Given the description of an element on the screen output the (x, y) to click on. 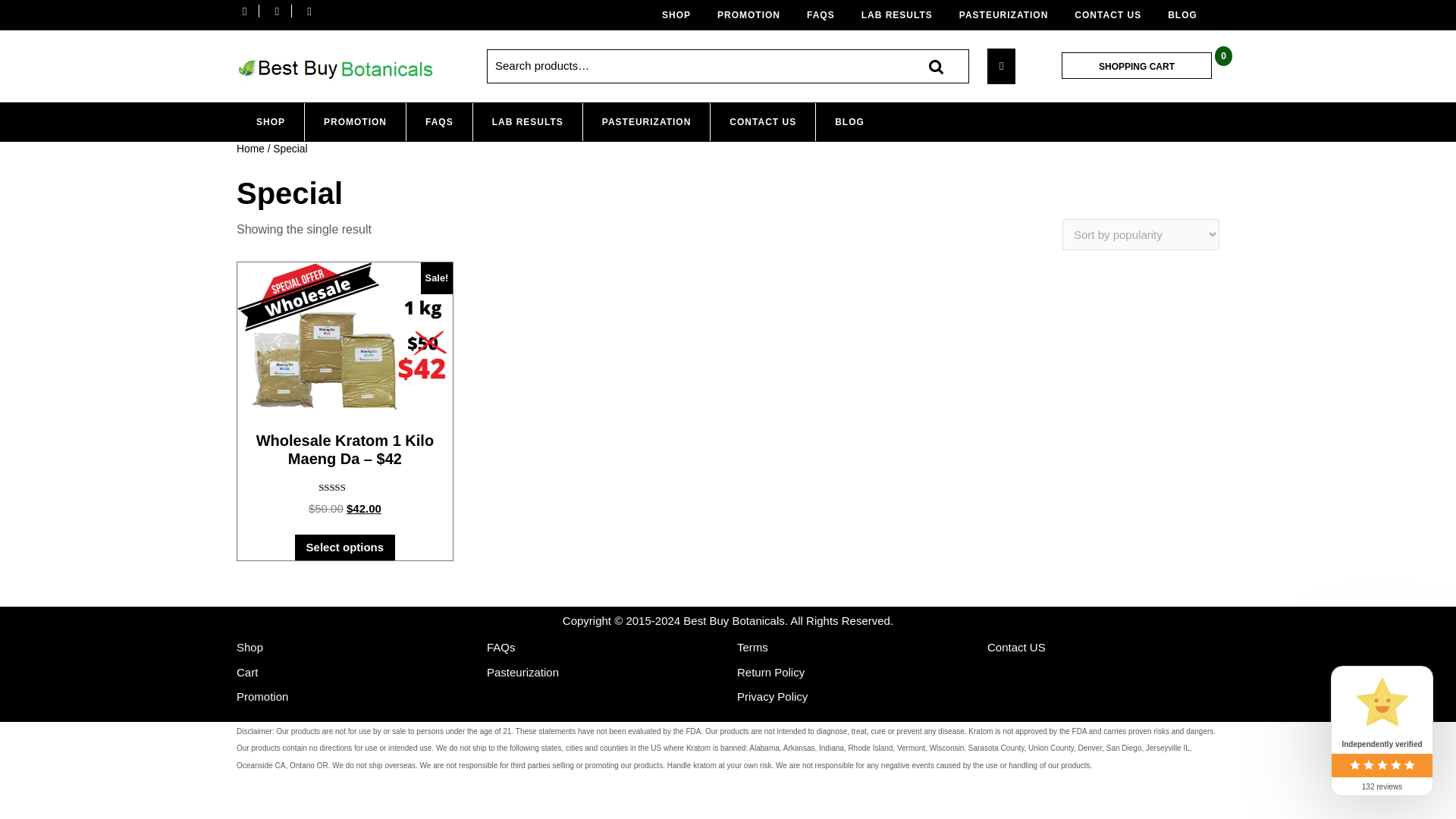
PASTEURIZATION (646, 121)
BLOG (1187, 14)
PROMOTION (754, 14)
Search (936, 65)
SHOP (270, 121)
FAQS (438, 121)
CONTACT US (762, 121)
Home (249, 148)
LAB RESULTS (902, 14)
SHOP (681, 14)
Twitter (280, 10)
Pinterest (312, 10)
BLOG (849, 121)
Shop (249, 646)
FAQS (826, 14)
